Given the description of an element on the screen output the (x, y) to click on. 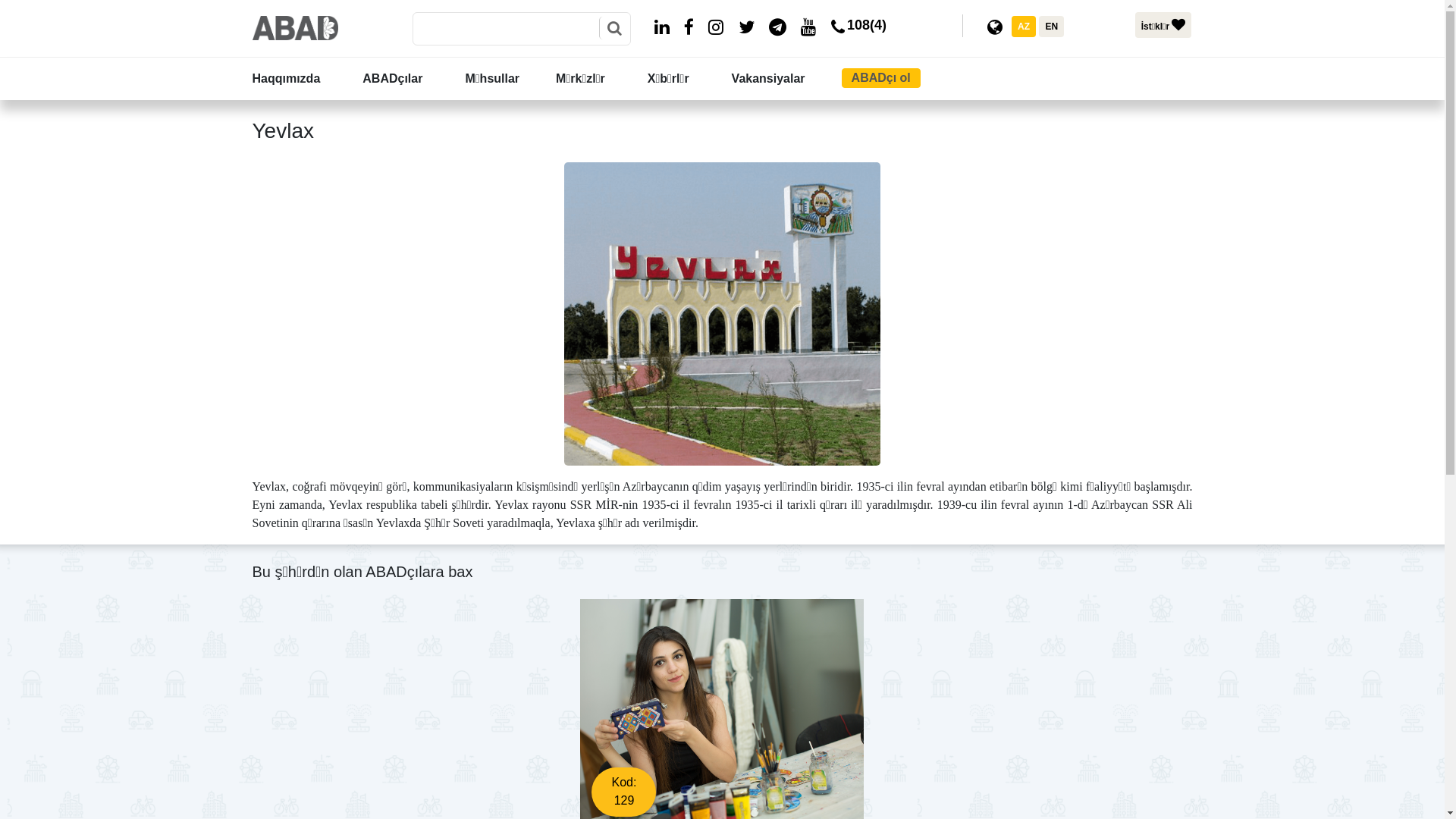
EN Element type: text (1050, 26)
Vakansiyalar Element type: text (783, 78)
108(4) Element type: text (855, 30)
